Given the description of an element on the screen output the (x, y) to click on. 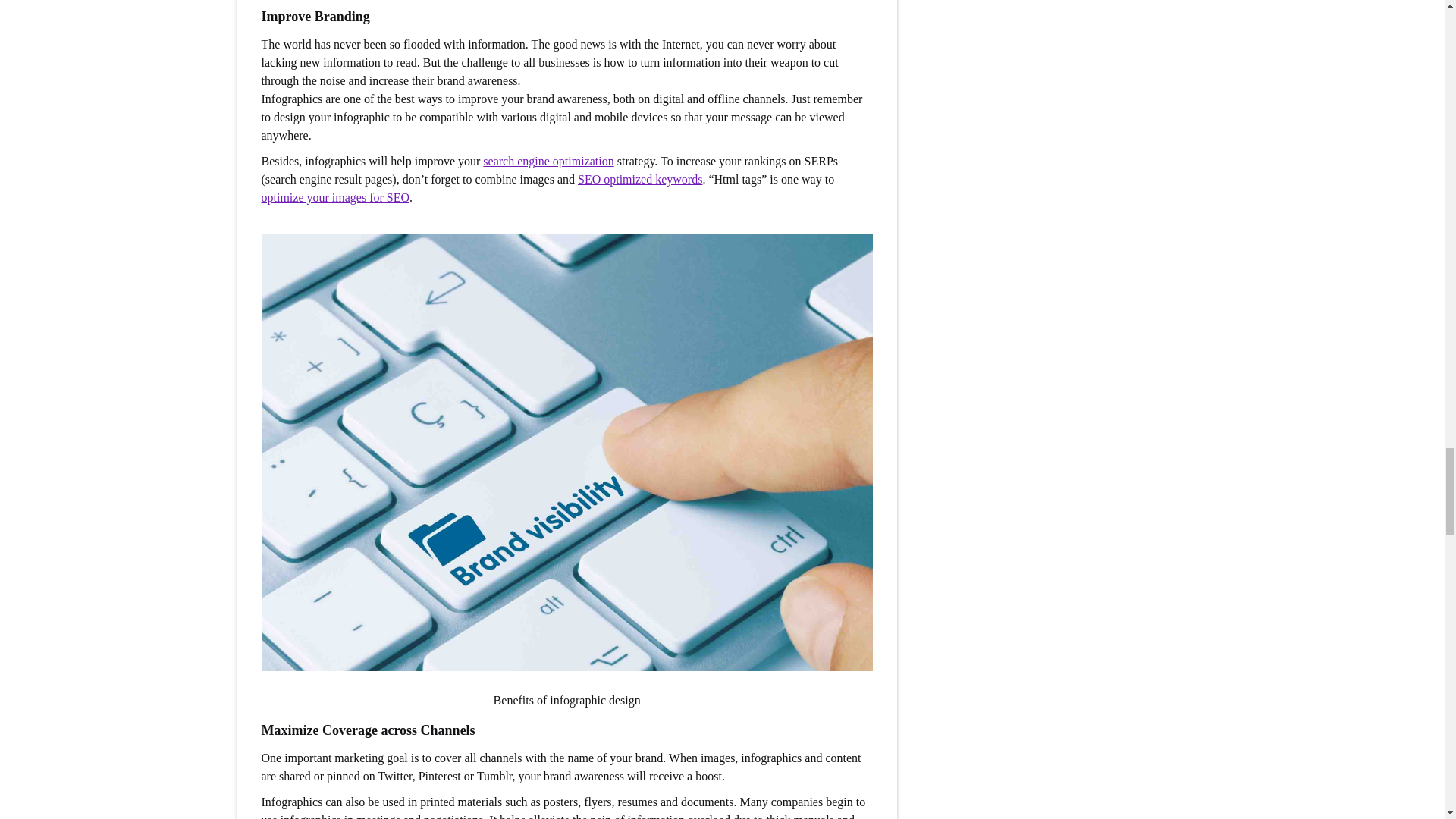
search engine optimization (547, 160)
optimize your images for SEO (334, 196)
SEO optimized keywords (639, 178)
